Given the description of an element on the screen output the (x, y) to click on. 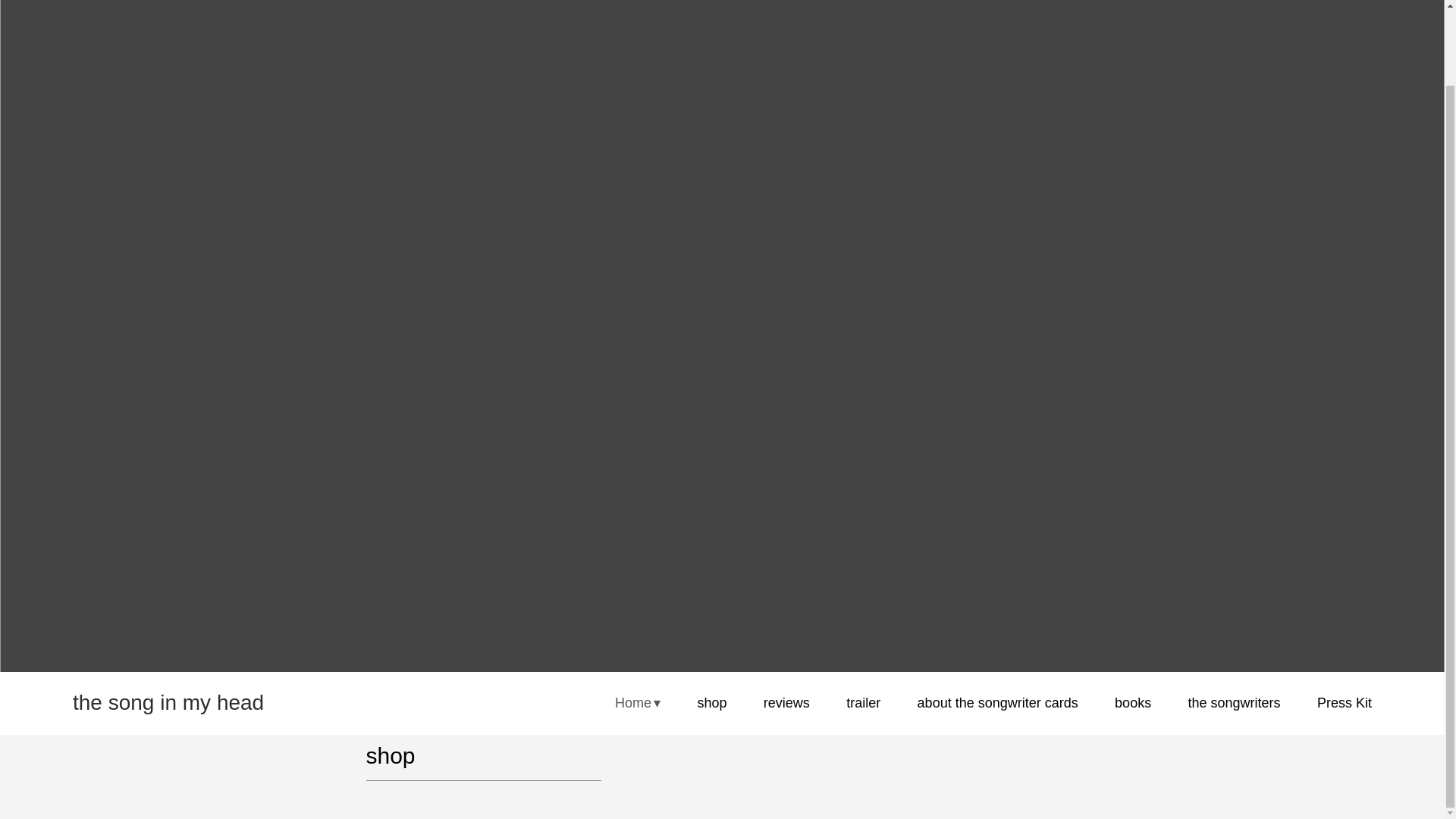
Press Kit (1344, 705)
the songwriters (1234, 708)
books (1133, 710)
about the songwriter cards (997, 714)
trailer (862, 718)
